Given the description of an element on the screen output the (x, y) to click on. 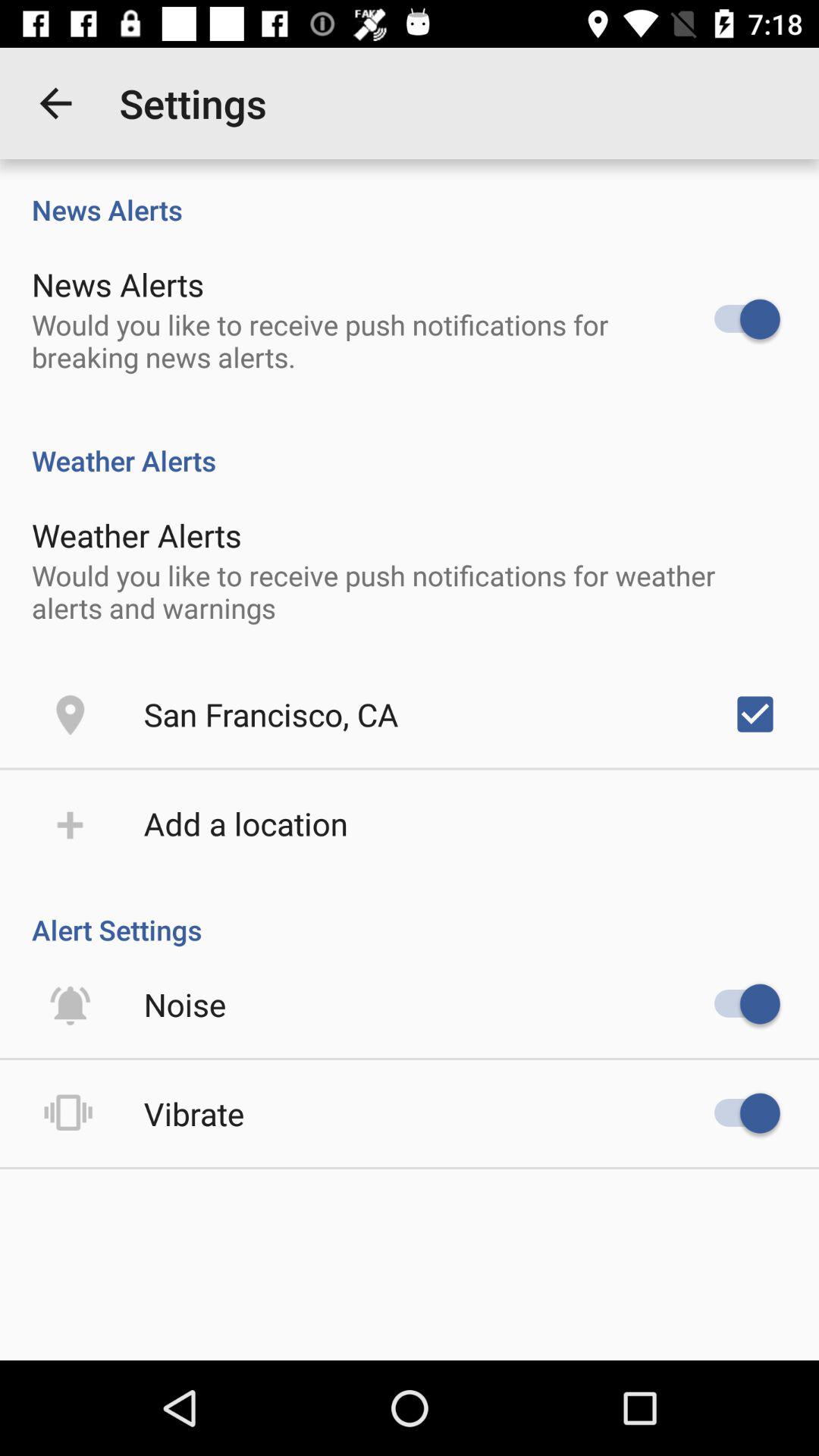
click the icon below would you like item (270, 713)
